Given the description of an element on the screen output the (x, y) to click on. 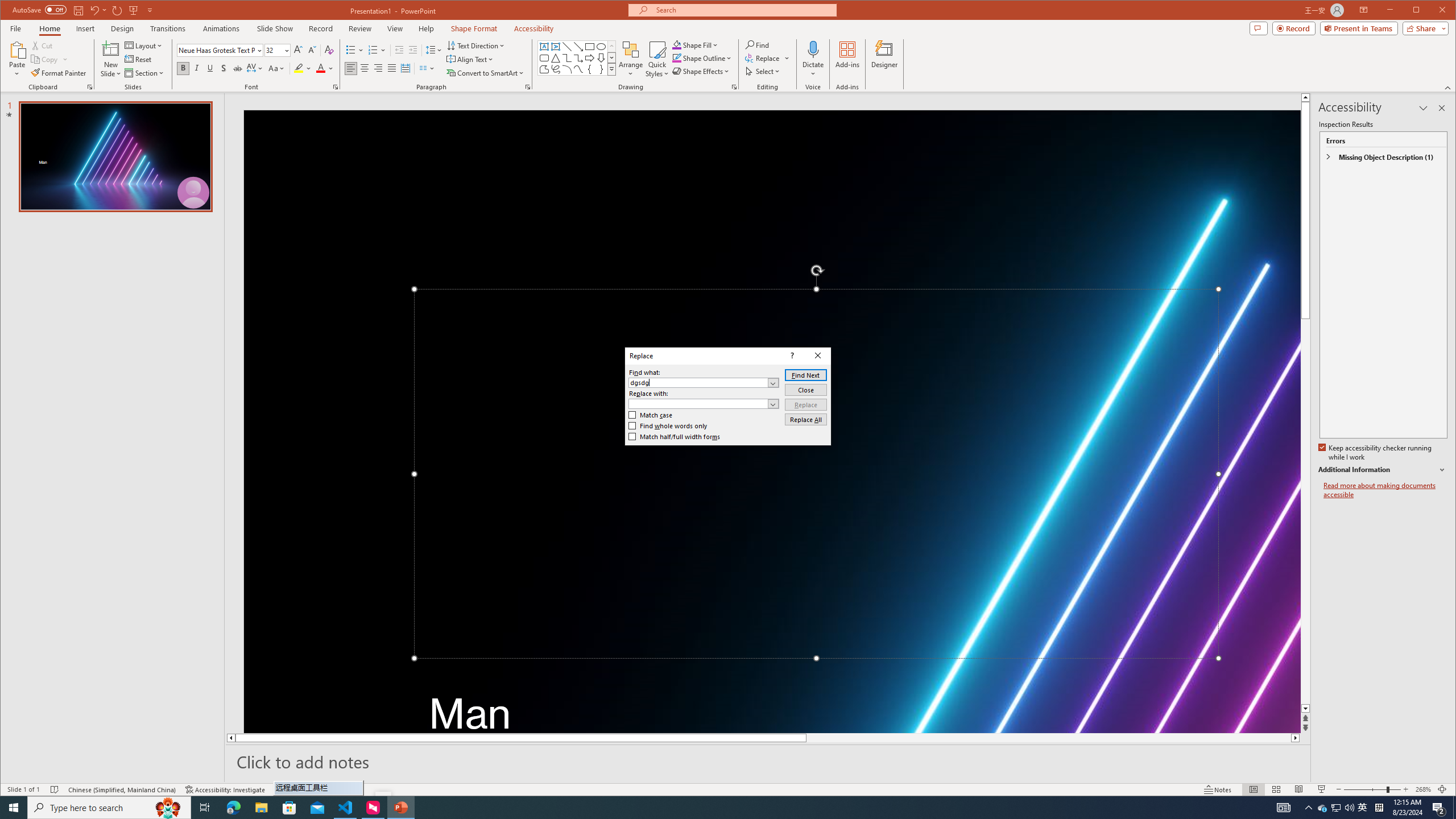
Additional Information (1382, 469)
Running applications (700, 807)
Find what (697, 382)
